Given the description of an element on the screen output the (x, y) to click on. 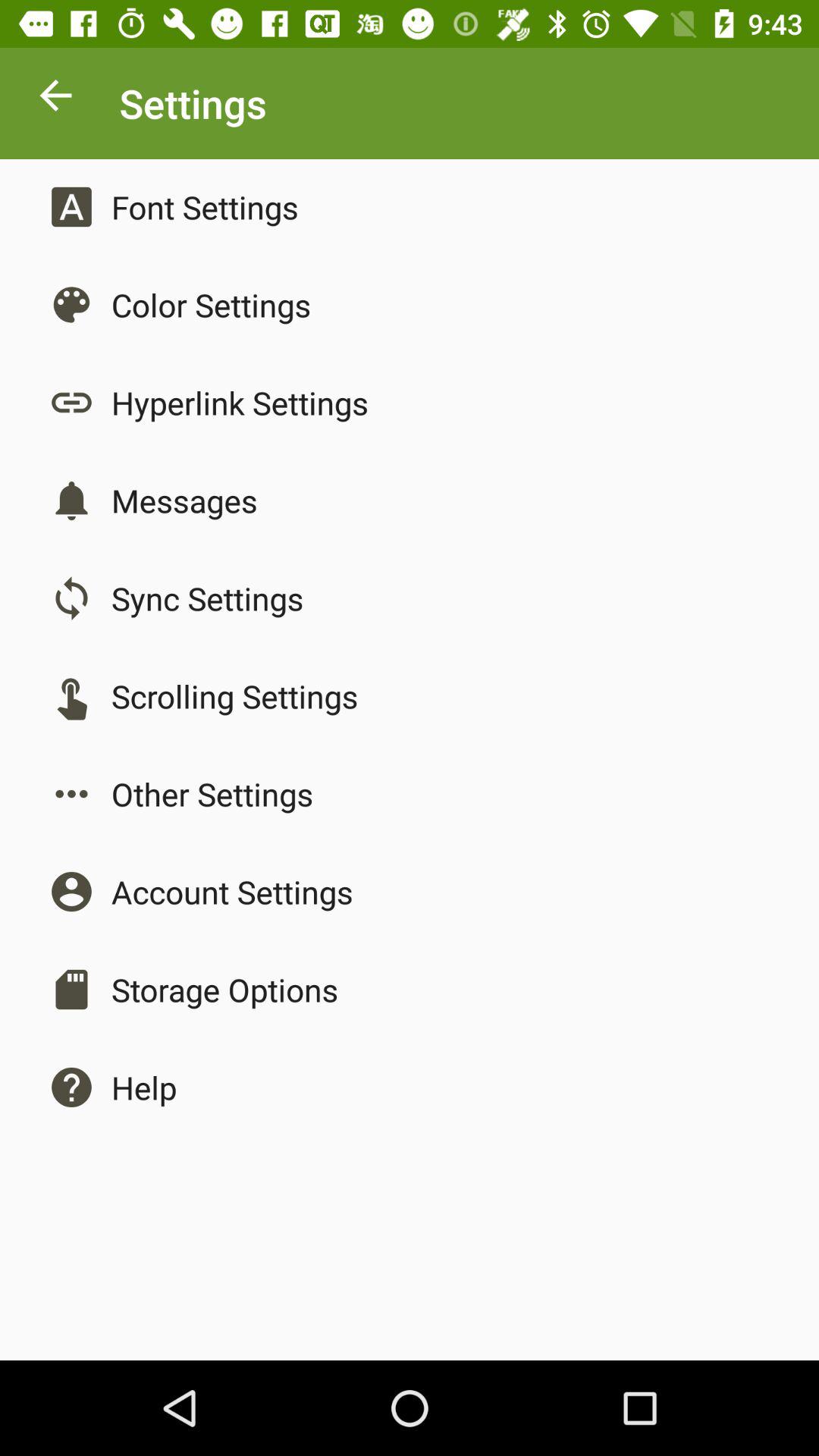
turn on font settings item (204, 206)
